Given the description of an element on the screen output the (x, y) to click on. 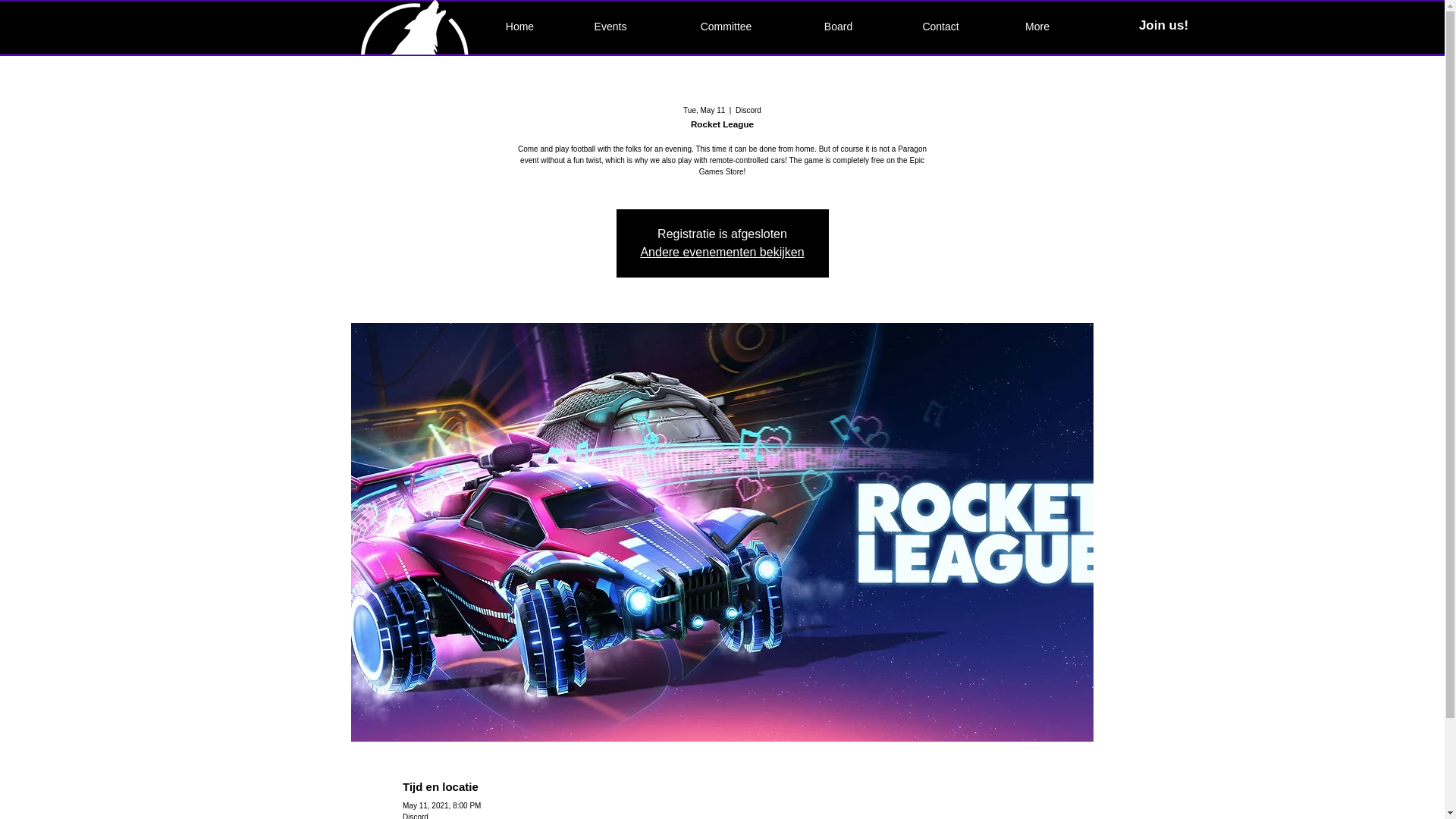
Board (837, 26)
Committee (725, 26)
Home (519, 26)
Contact (939, 26)
Andere evenementen bekijken (721, 251)
Events (610, 26)
Join us! (1163, 25)
